Given the description of an element on the screen output the (x, y) to click on. 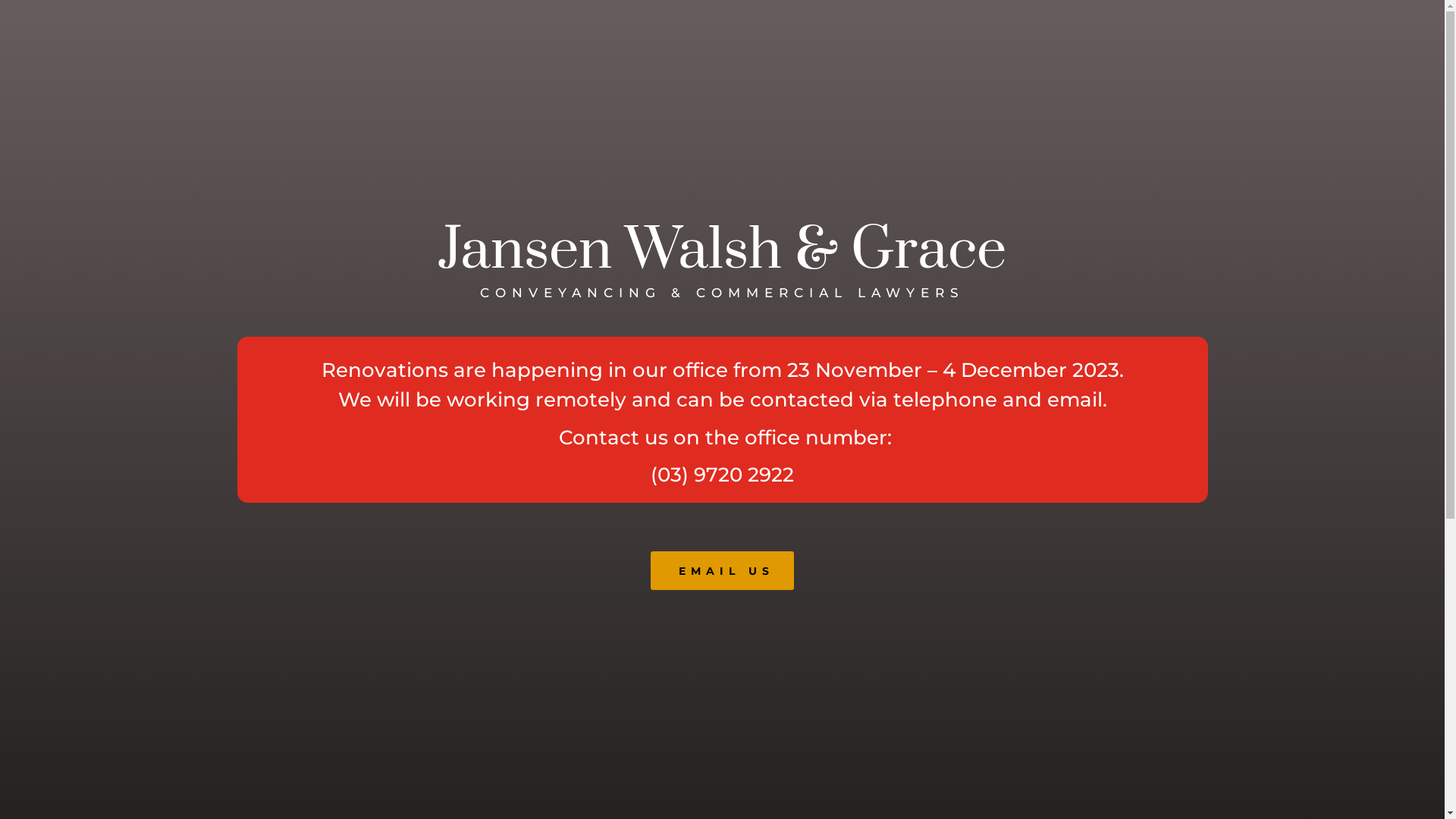
EMAIL US Element type: text (721, 570)
